Given the description of an element on the screen output the (x, y) to click on. 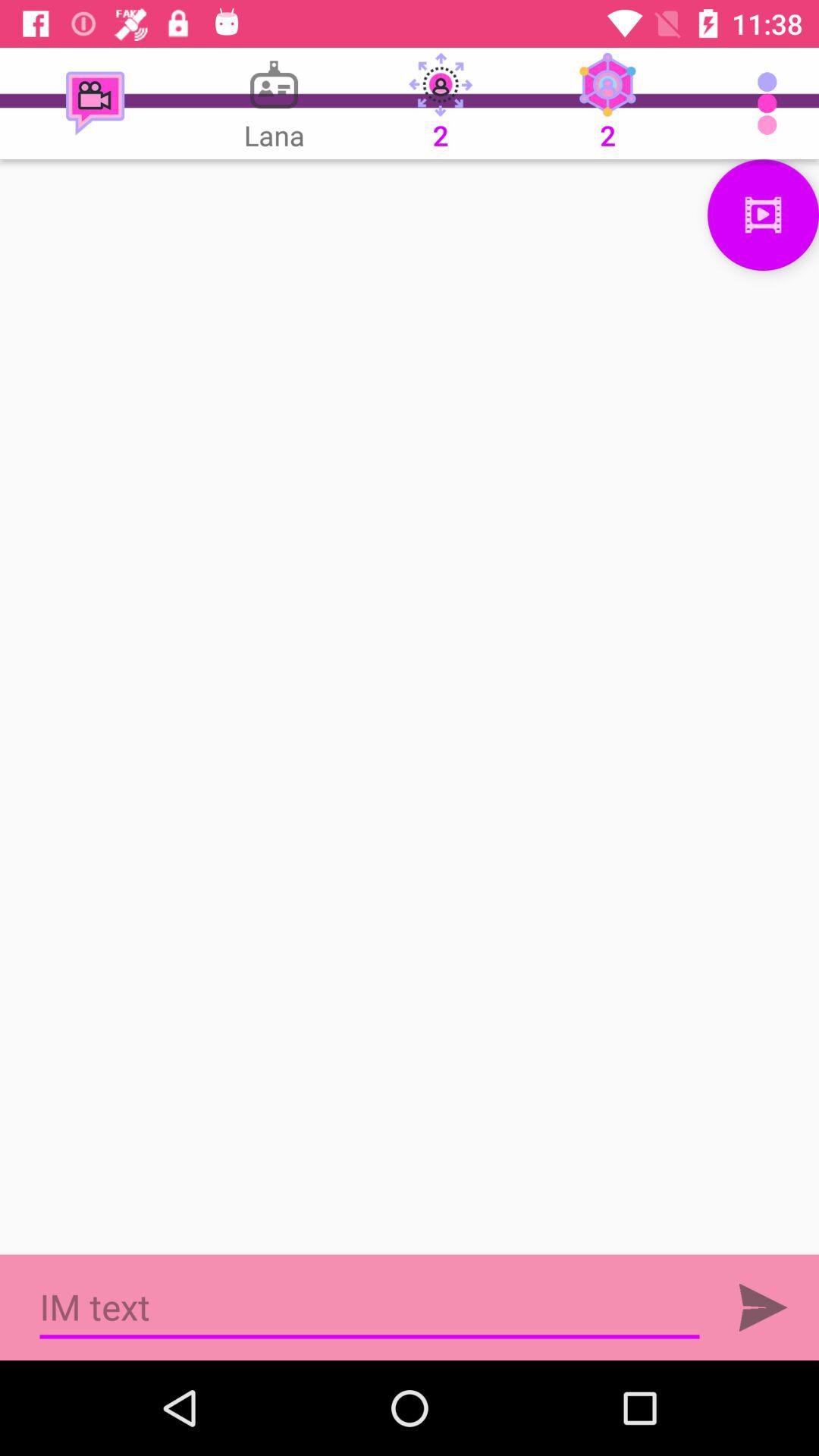
write instant message text (369, 1307)
